Given the description of an element on the screen output the (x, y) to click on. 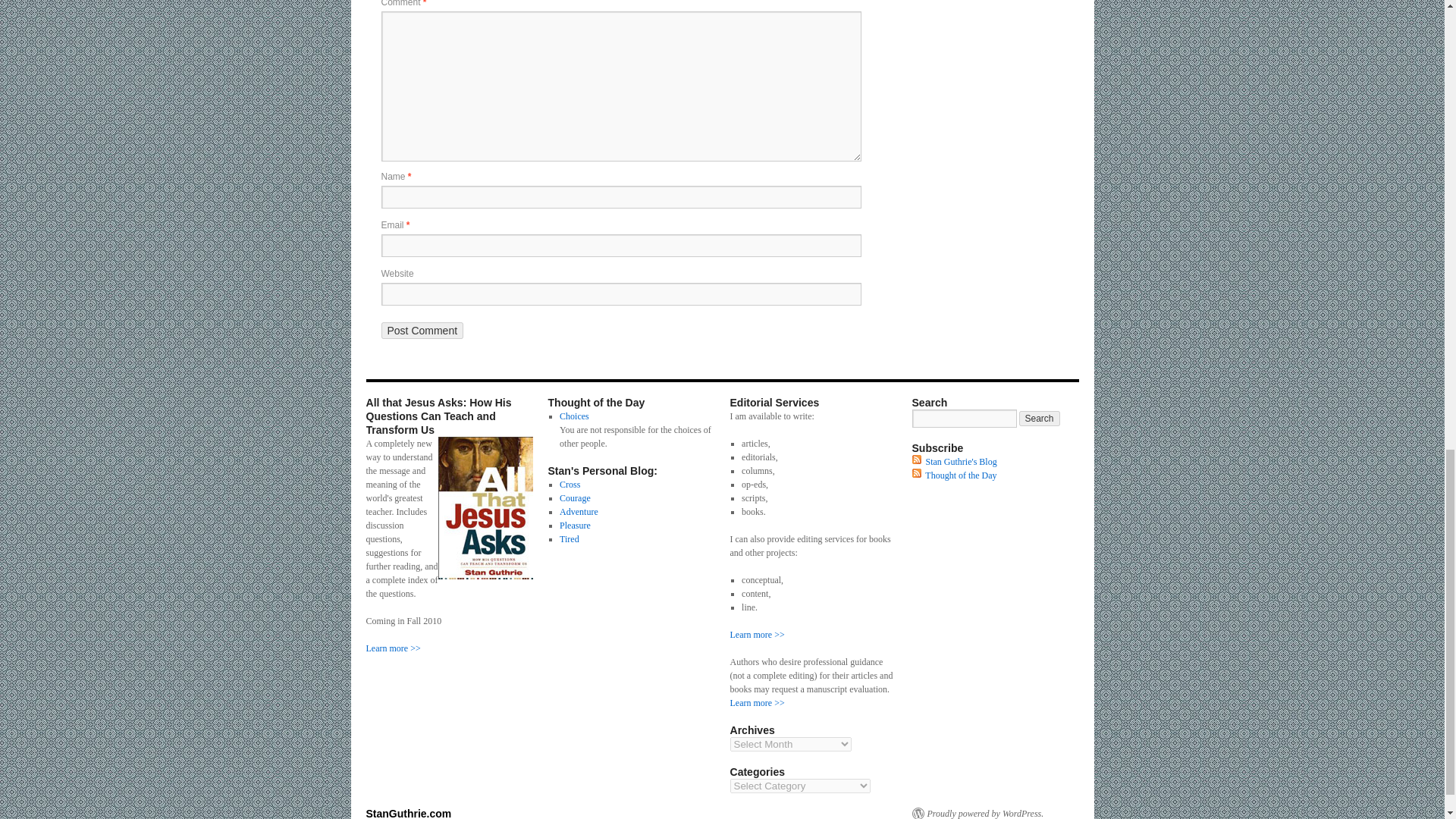
Post Comment (421, 330)
Permanent link to Choices (574, 416)
Search (1039, 418)
Post Comment (421, 330)
